Given the description of an element on the screen output the (x, y) to click on. 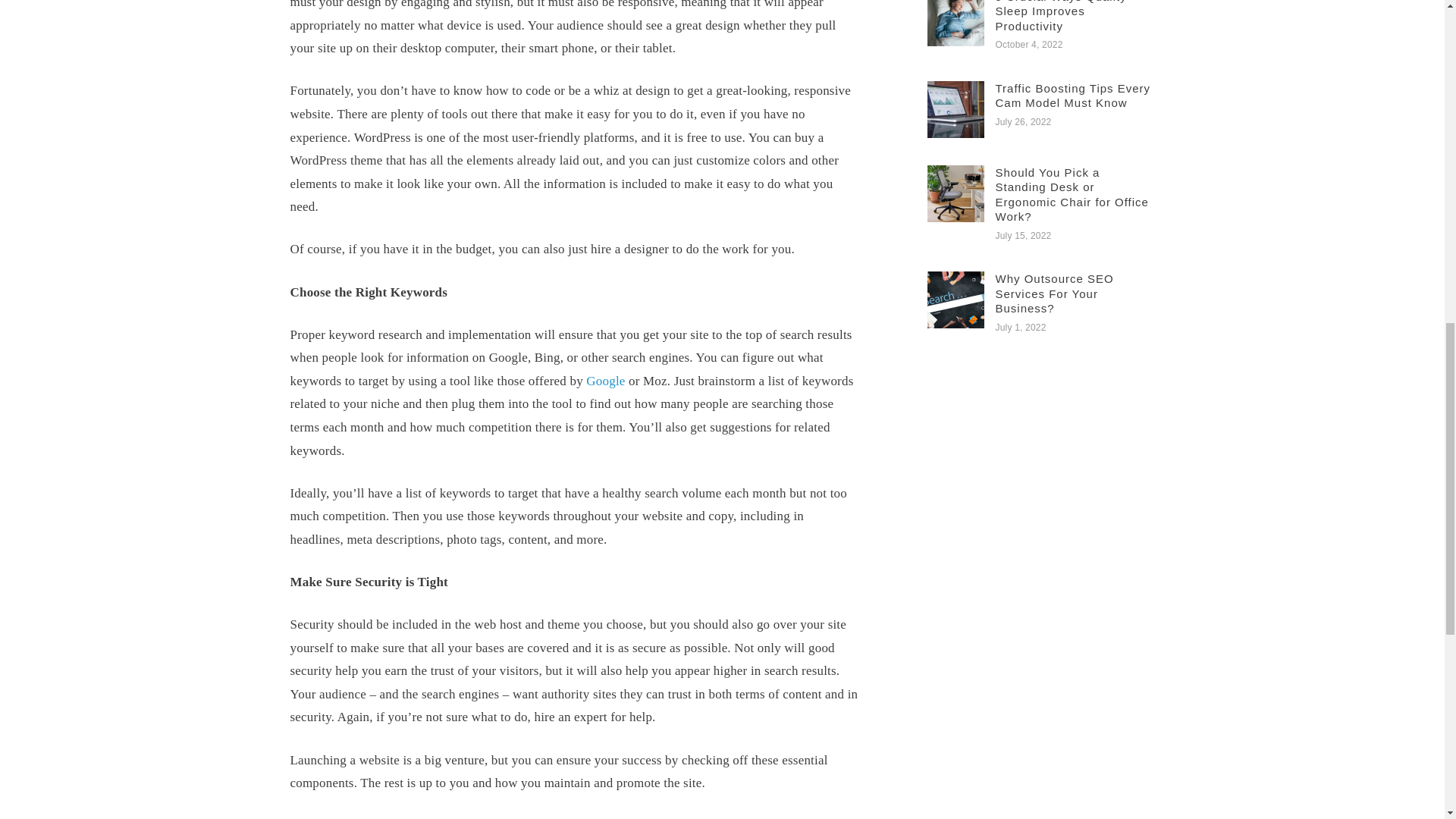
Google (605, 380)
Traffic Boosting Tips Every Cam Model Must Know (1072, 95)
5 Crucial Ways Quality Sleep Improves Productivity (1059, 16)
